Given the description of an element on the screen output the (x, y) to click on. 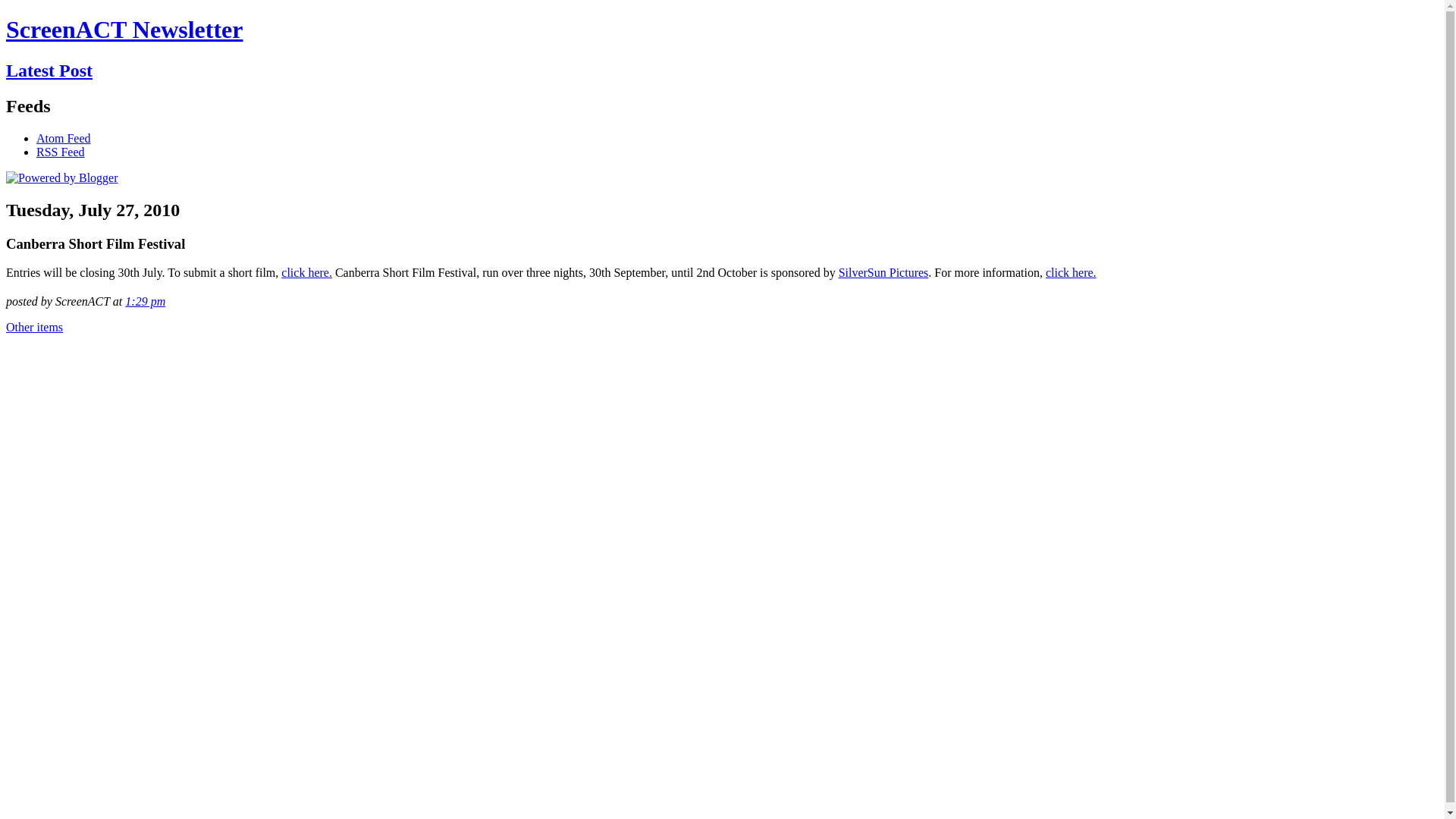
Latest Post Element type: text (49, 70)
RSS Feed Element type: text (60, 151)
click here. Element type: text (1070, 272)
Other items Element type: text (34, 326)
ScreenACT Newsletter Element type: text (124, 29)
Advertisement Element type: hover (66, 587)
click here. Element type: text (306, 272)
1:29 pm Element type: text (145, 300)
Atom Feed Element type: text (63, 137)
SilverSun Pictures Element type: text (883, 272)
